Given the description of an element on the screen output the (x, y) to click on. 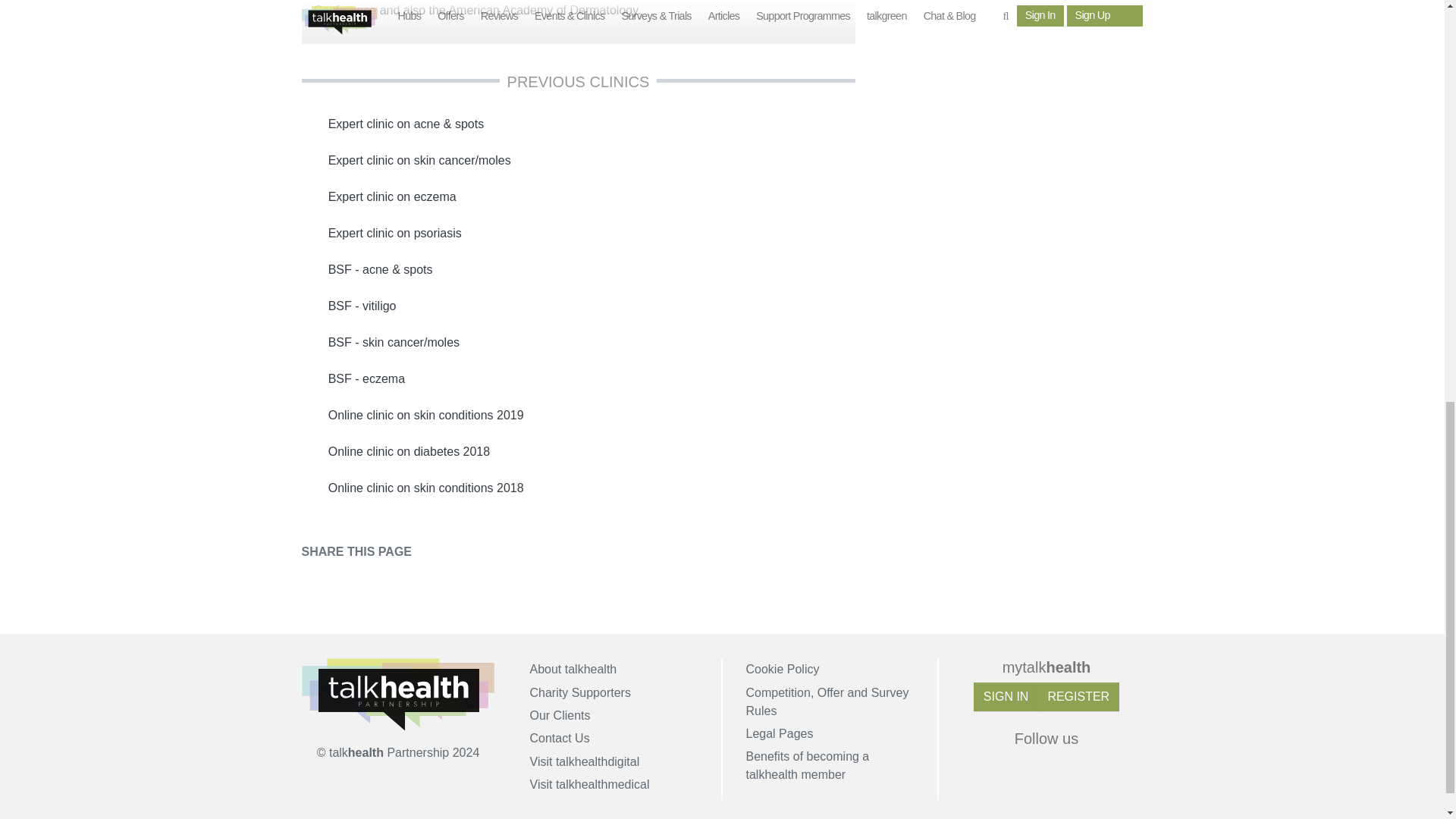
Expert clinic on eczema (578, 197)
Expert clinic on psoriasis (578, 233)
BSF - vitiligo (578, 306)
